Given the description of an element on the screen output the (x, y) to click on. 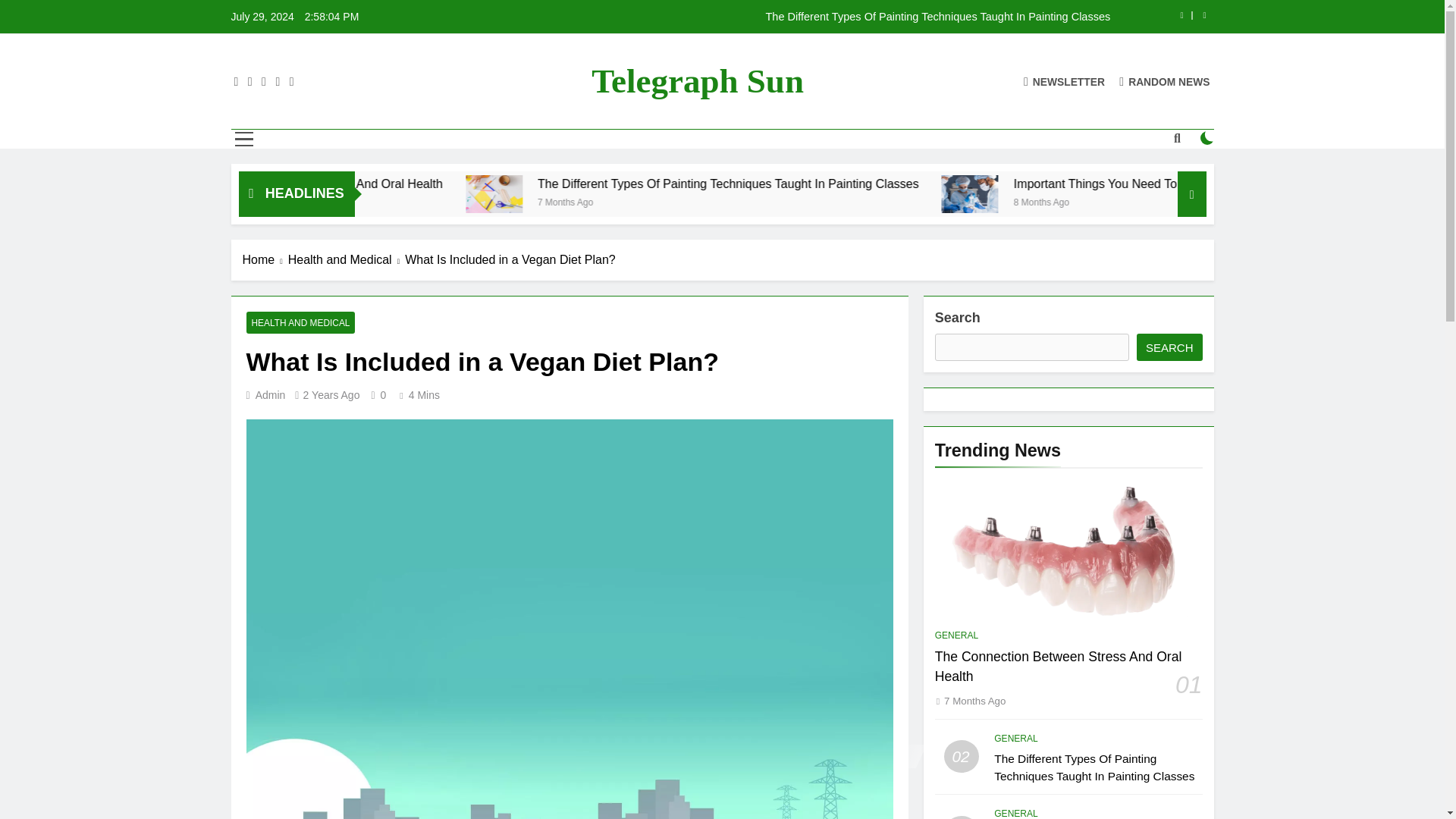
NEWSLETTER (1064, 80)
7 Months Ago (405, 201)
7 Months Ago (756, 201)
The Connection Between Stress And Oral Health (458, 183)
RANDOM NEWS (1164, 80)
The Connection Between Stress And Oral Health (513, 183)
on (1206, 137)
Telegraph Sun (697, 80)
